Given the description of an element on the screen output the (x, y) to click on. 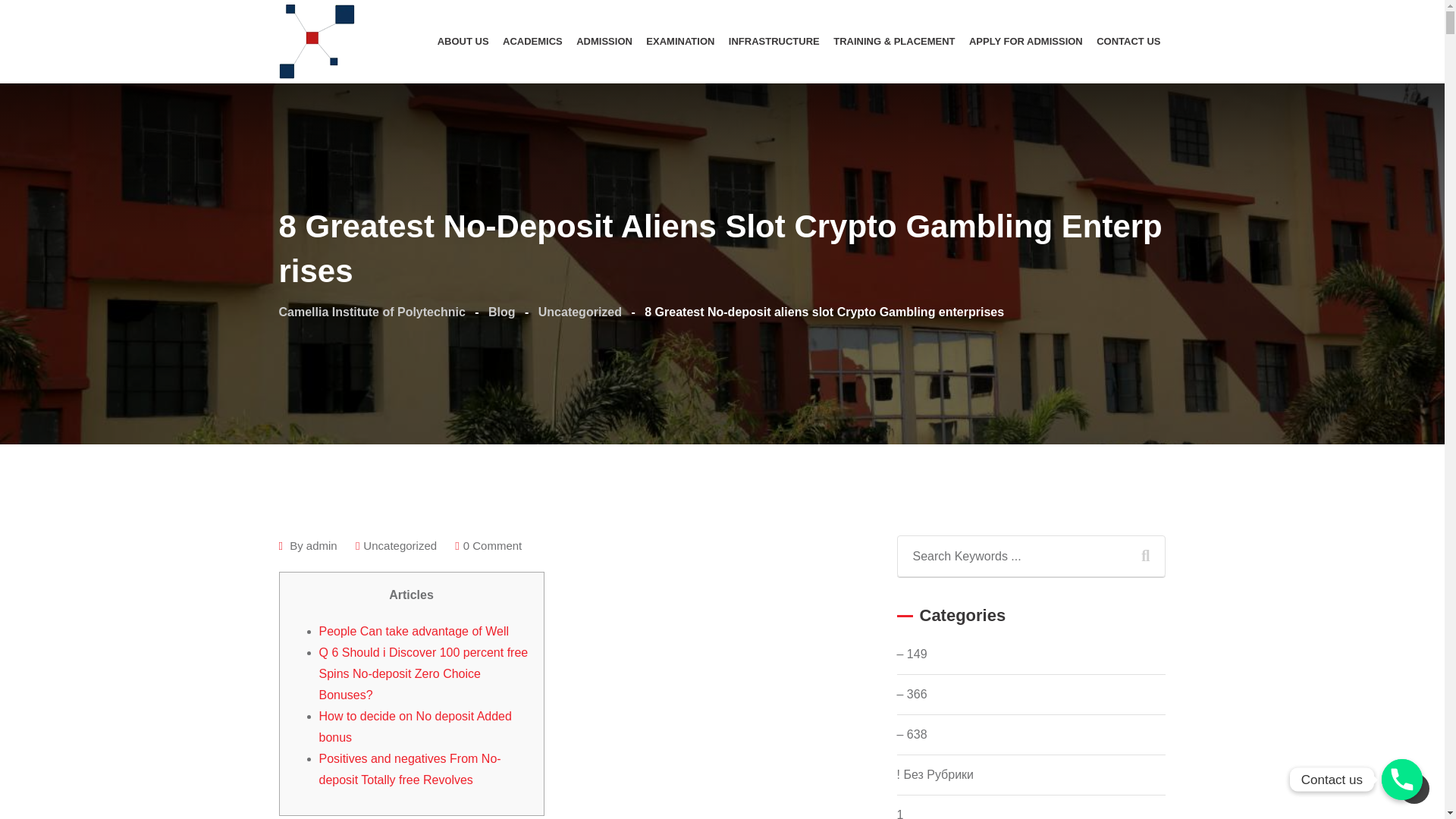
Go to Camellia Institute of Polytechnic. (372, 311)
ABOUT US (463, 41)
INFRASTRUCTURE (774, 41)
Go to the Uncategorized category archives. (579, 311)
ADMISSION (603, 41)
ACADEMICS (532, 41)
EXAMINATION (679, 41)
Go to Blog. (501, 311)
